Given the description of an element on the screen output the (x, y) to click on. 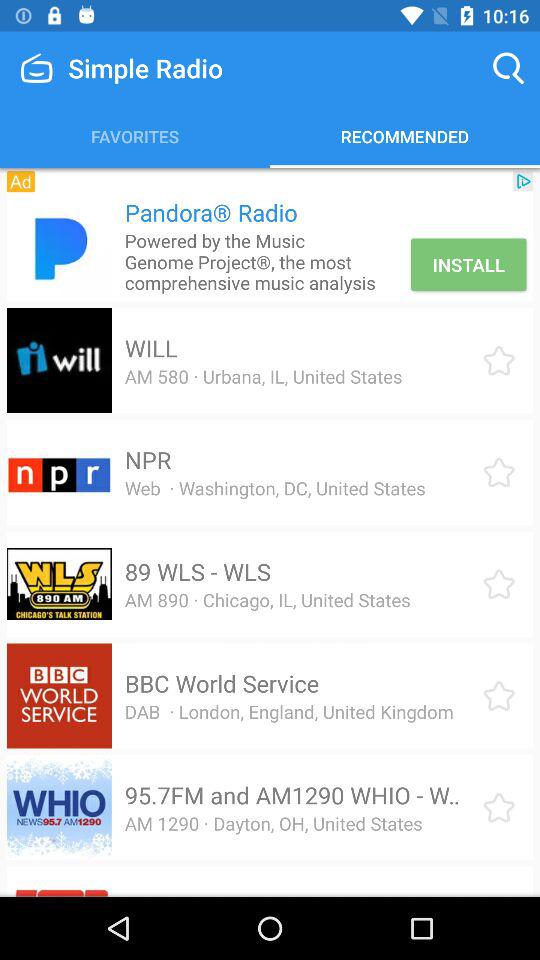
select item above npr (263, 376)
